Given the description of an element on the screen output the (x, y) to click on. 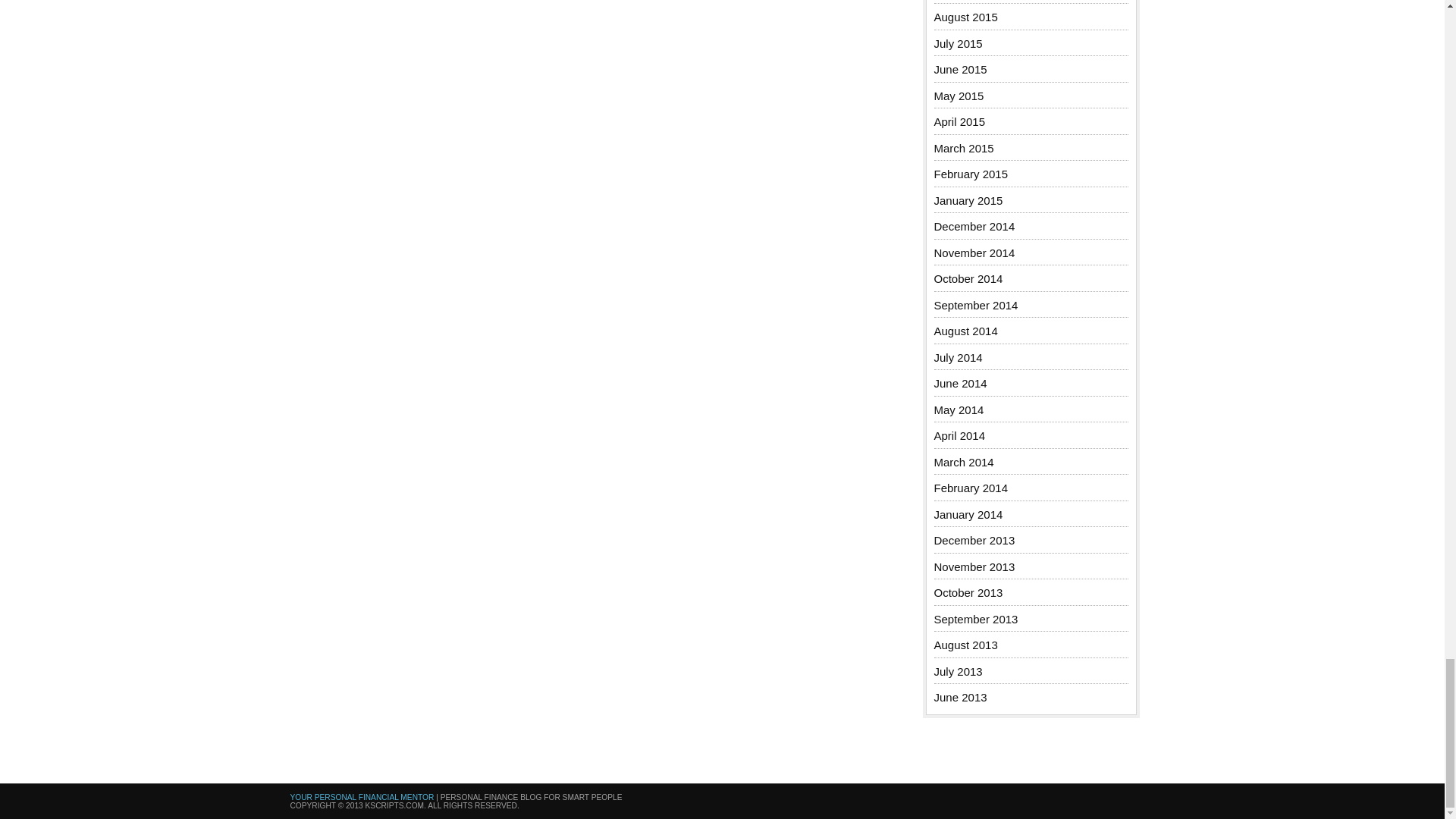
Your Personal Financial Mentor (361, 797)
